Given the description of an element on the screen output the (x, y) to click on. 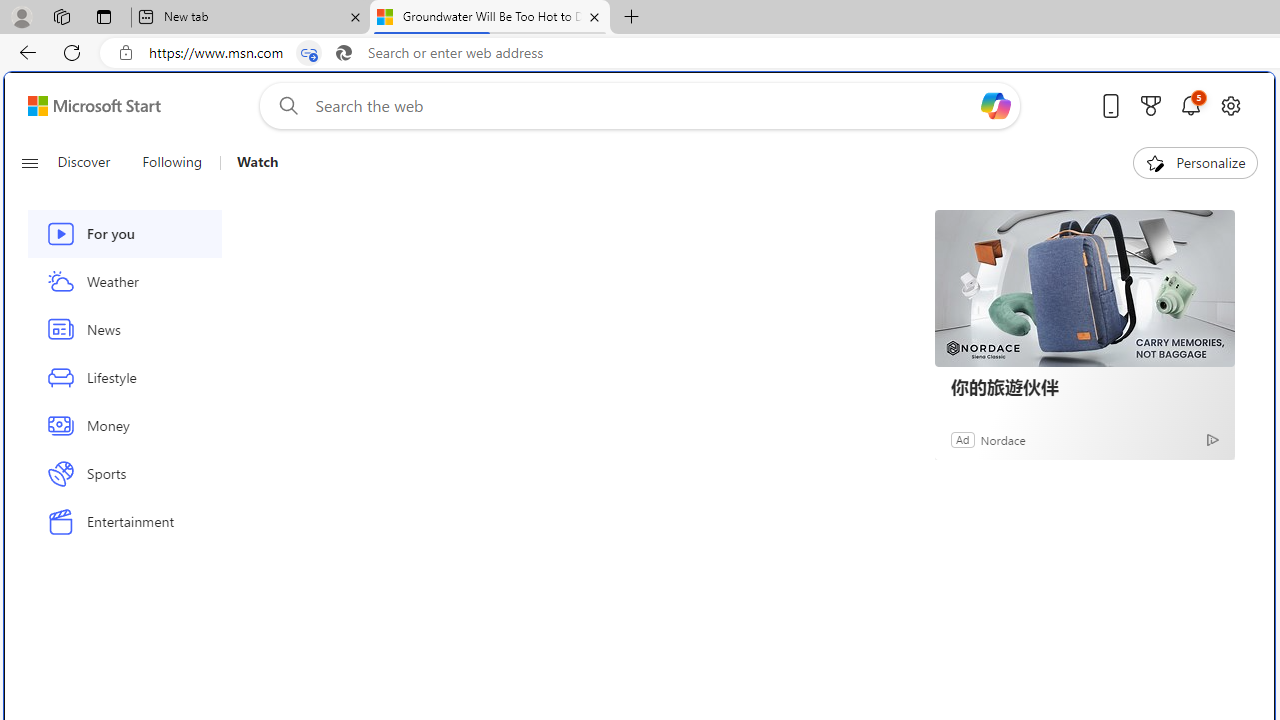
Web search (283, 105)
To get missing image descriptions, open the context menu. (1155, 162)
Tabs in split screen (308, 53)
Microsoft rewards (1151, 105)
